Given the description of an element on the screen output the (x, y) to click on. 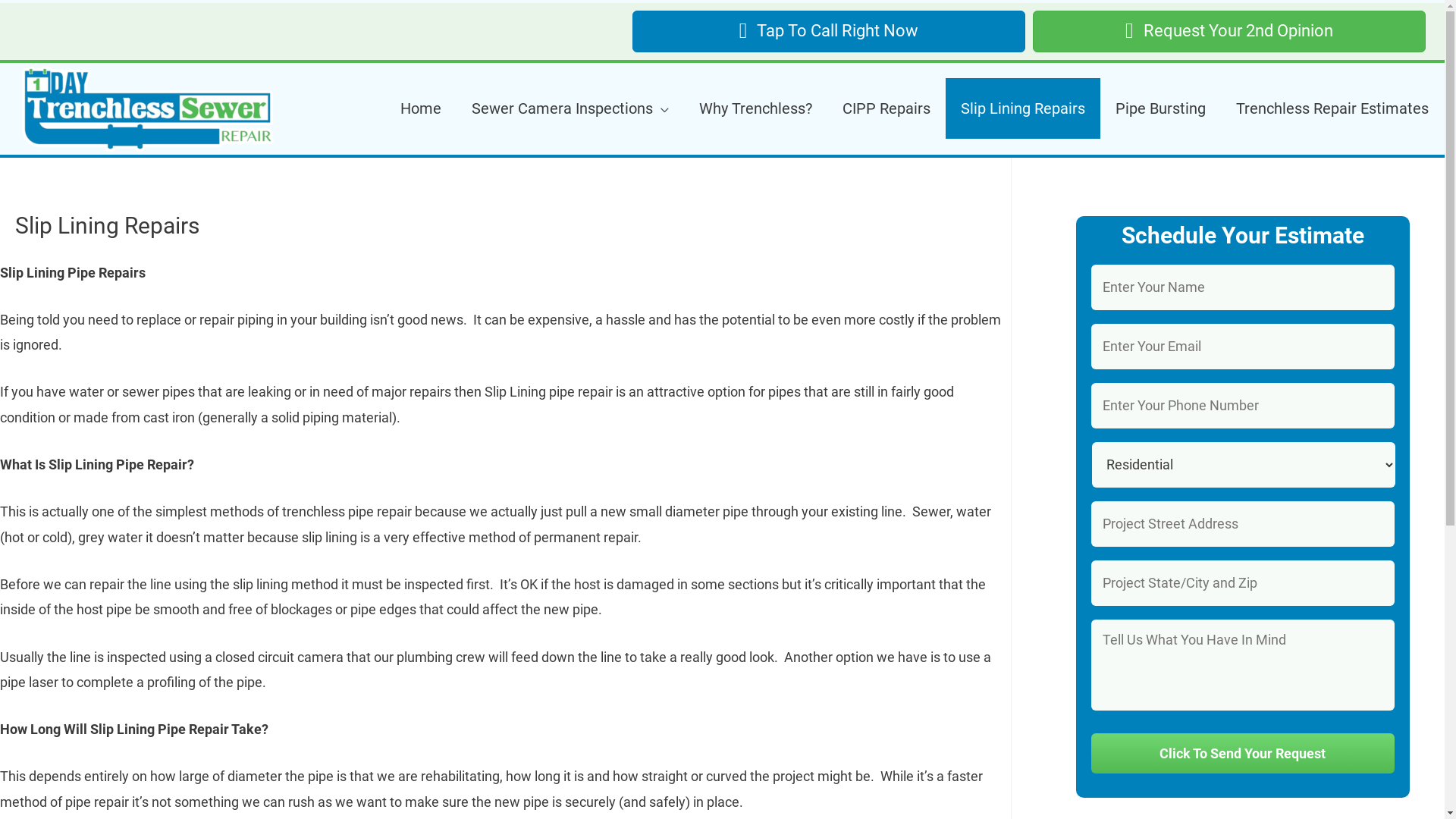
Tap To Call Right Now Element type: text (828, 31)
Trenchless Repair Estimates Element type: text (1331, 108)
Request Your 2nd Opinion Element type: text (1228, 31)
Sewer Camera Inspections Element type: text (570, 108)
Click To Send Your Request Element type: text (1242, 753)
Home Element type: text (420, 108)
Slip Lining Repairs Element type: text (1022, 108)
CIPP Repairs Element type: text (886, 108)
Why Trenchless? Element type: text (755, 108)
Pipe Bursting Element type: text (1160, 108)
